Given the description of an element on the screen output the (x, y) to click on. 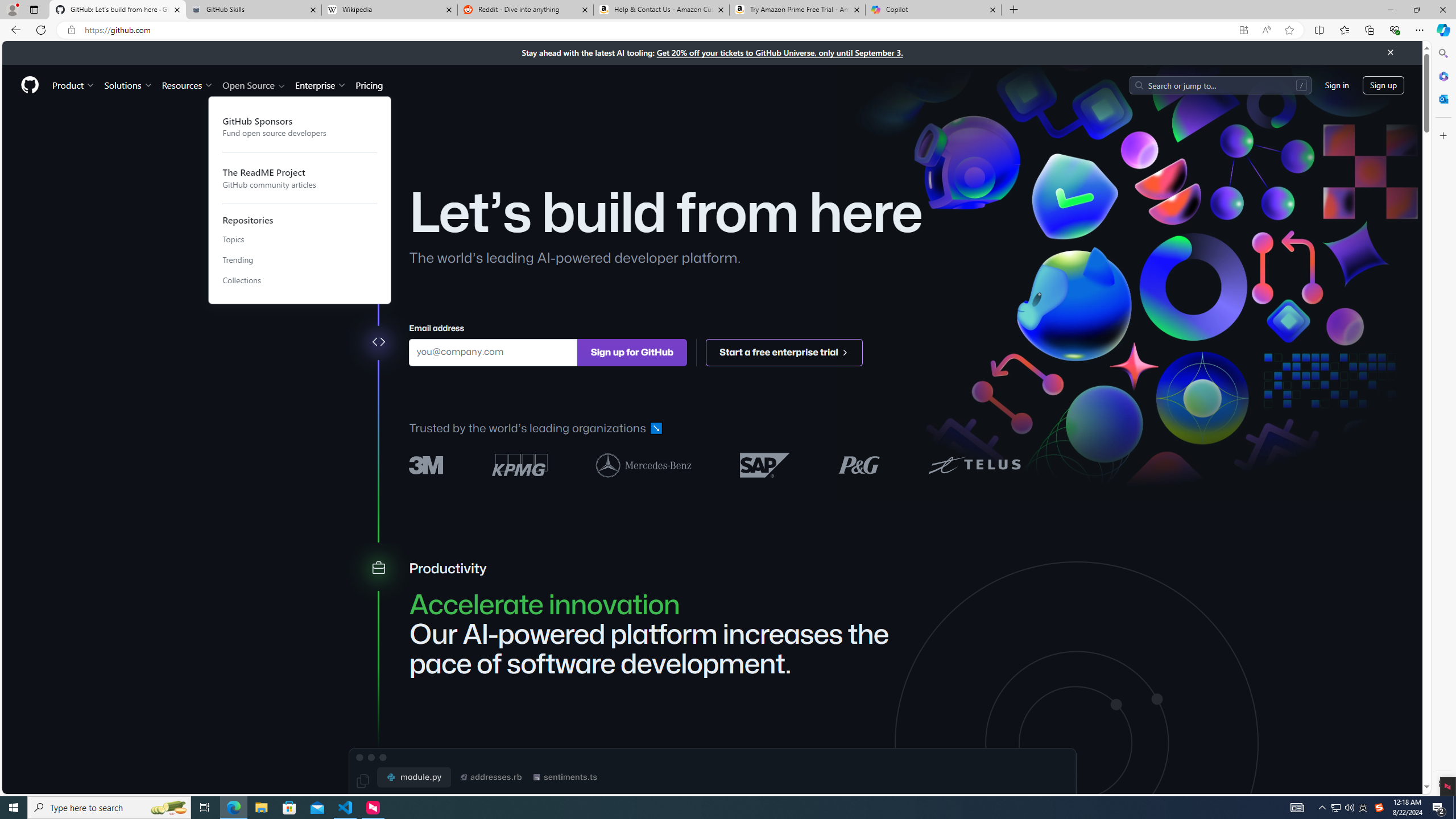
Telus logo (973, 464)
Open Source (254, 84)
Address and search bar (658, 29)
The ReadME Project GitHub community articles (299, 177)
The ReadME ProjectGitHub community articles (299, 177)
GitHub Sponsors Fund open source developers (299, 126)
